Given the description of an element on the screen output the (x, y) to click on. 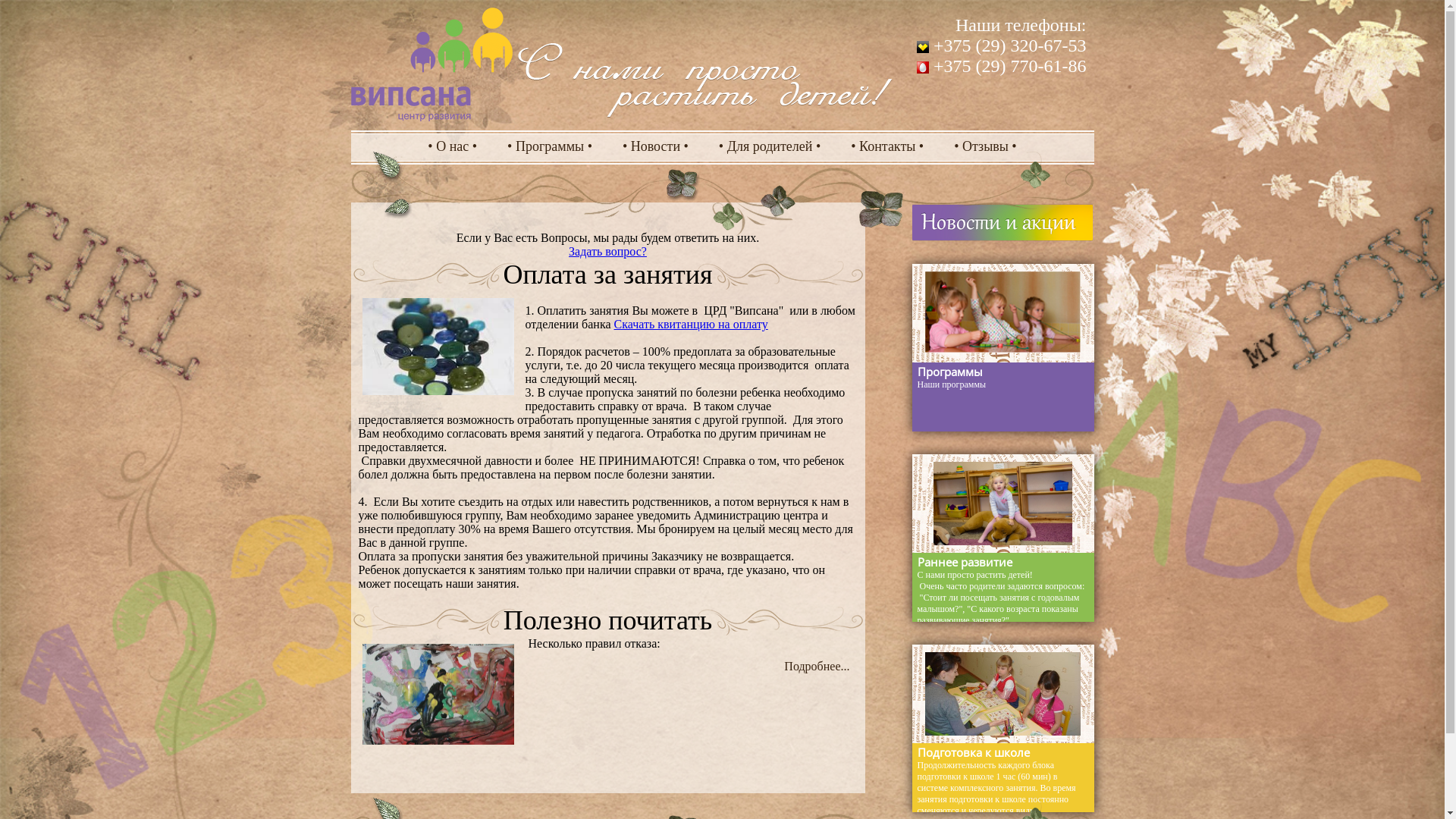
+375 (29) 320-67-53 Element type: text (1001, 45)
+375 (29) 770-61-86 Element type: text (1001, 65)
